Given the description of an element on the screen output the (x, y) to click on. 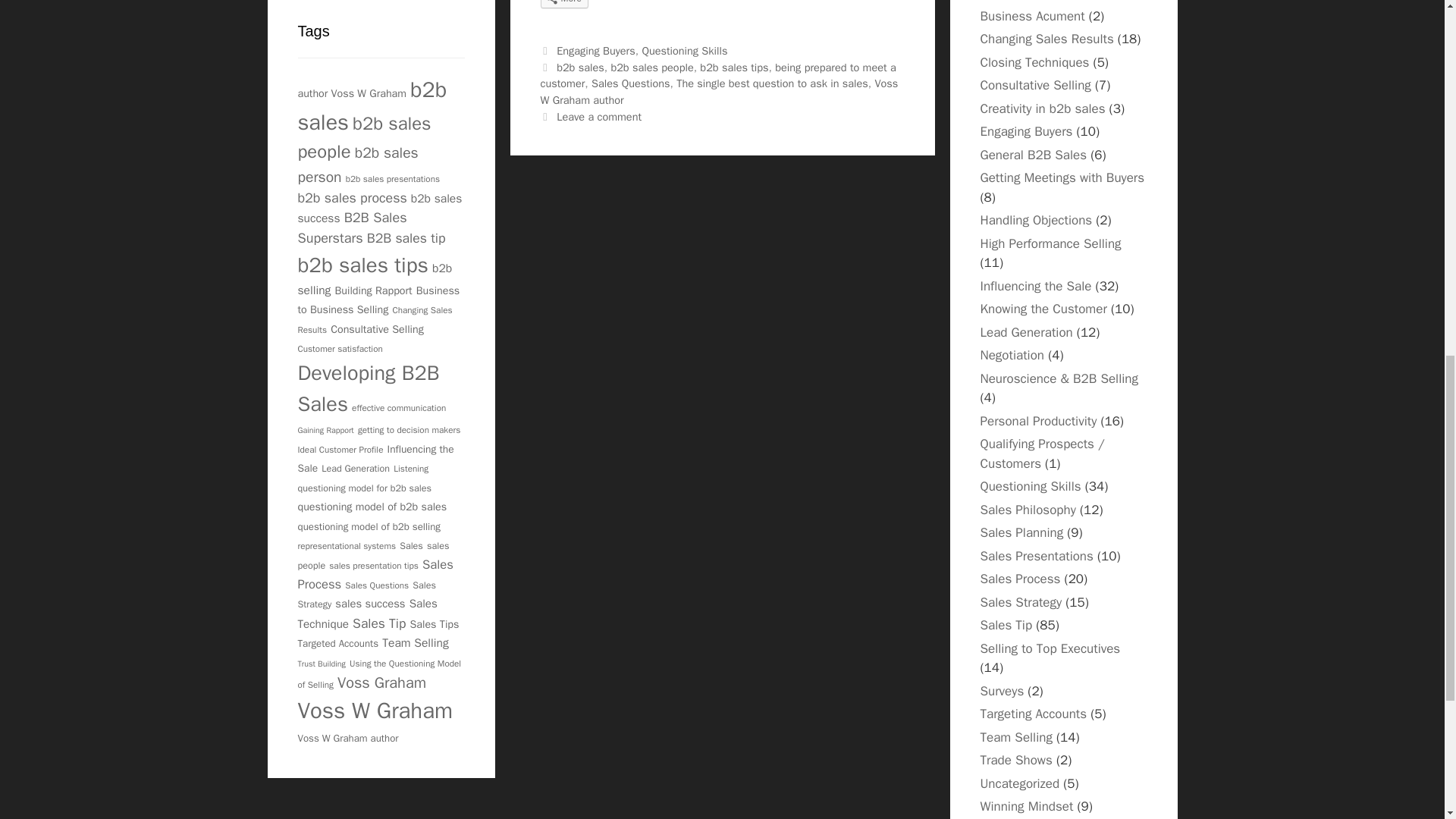
b2b sales (580, 67)
Voss W Graham author (719, 91)
b2b sales people (651, 67)
author Voss W Graham (351, 92)
being prepared to meet a customer (717, 75)
Engaging Buyers (595, 50)
Sales Questions (630, 83)
Questioning Skills (684, 50)
The single best question to ask in sales (772, 83)
More (564, 4)
Leave a comment (599, 116)
b2b sales (371, 105)
How to Close Successfully (1034, 62)
b2b sales people (363, 137)
